Given the description of an element on the screen output the (x, y) to click on. 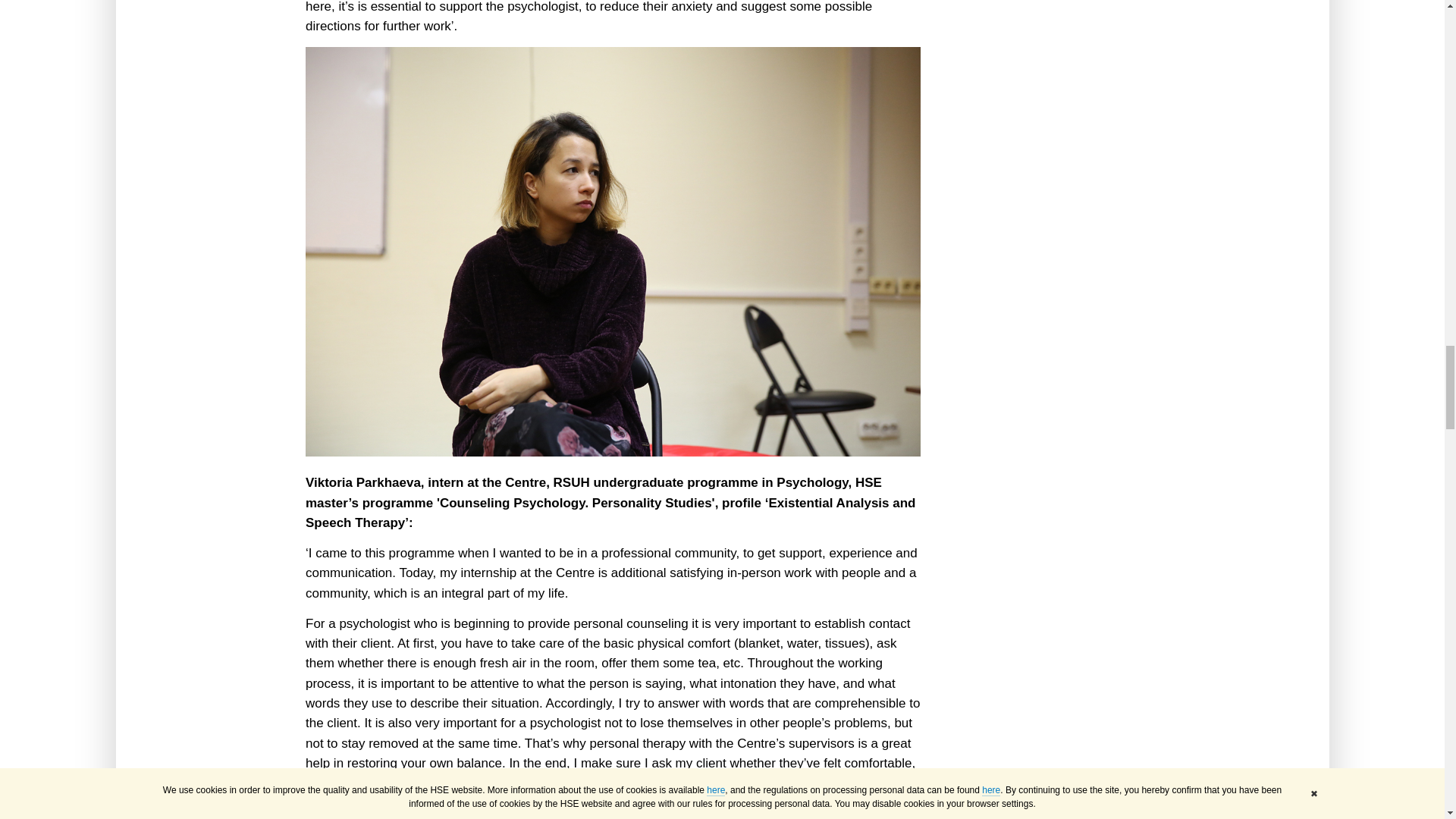
Telegram (335, 817)
WhatsApp (356, 817)
Viber (378, 817)
VKontakte (314, 817)
